Given the description of an element on the screen output the (x, y) to click on. 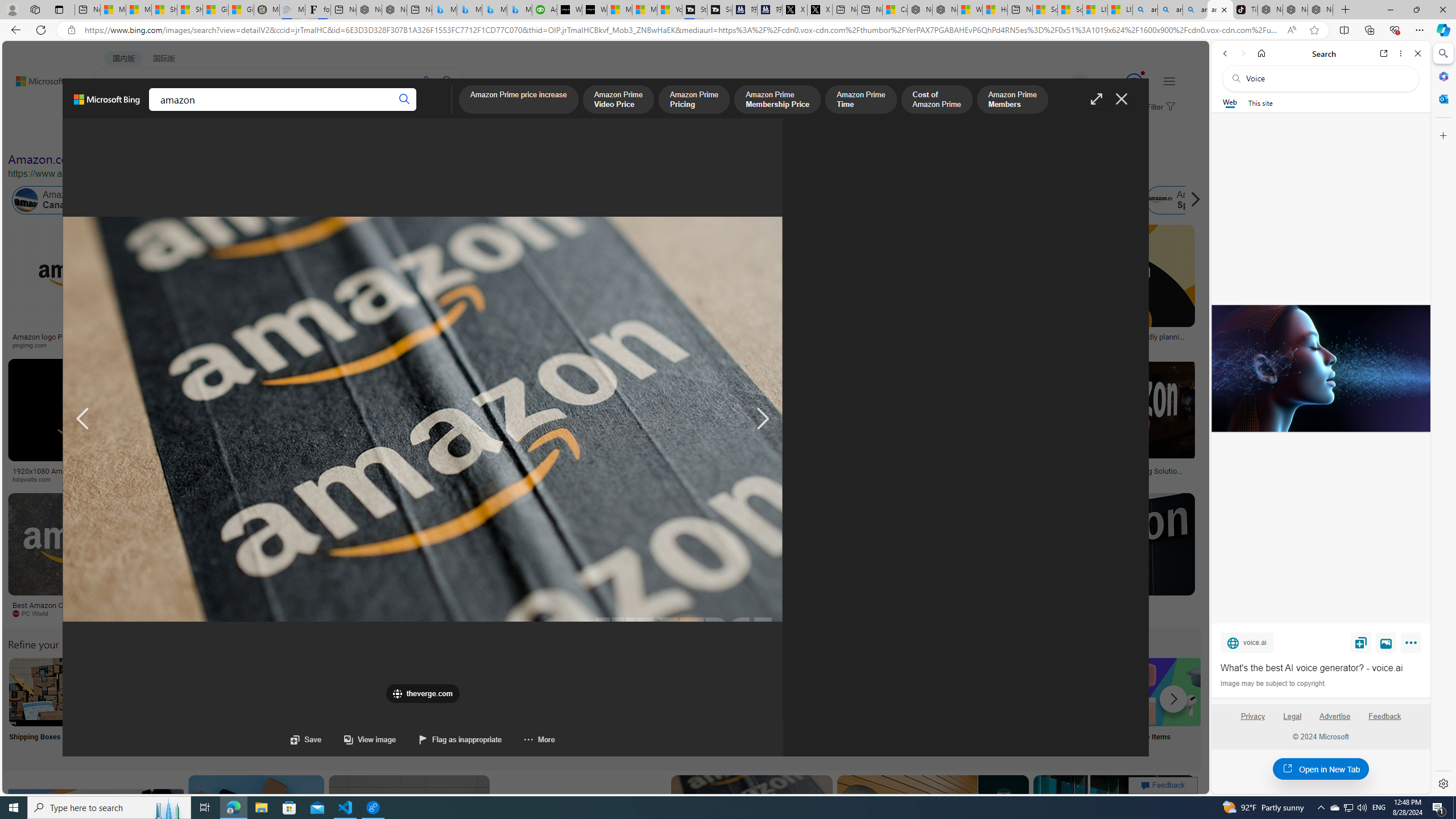
Amazon Package Delivery (418, 691)
More (1413, 644)
Amazon (1105, 605)
downdetector.ae (937, 344)
Amazon down? Current status and problems | Downdetector (937, 340)
Search (1442, 53)
Amazon Prime Label Prime Label (1018, 706)
Amazon Sign in My Account Sign My Account (718, 706)
Amazon Prime Label (1018, 691)
